Given the description of an element on the screen output the (x, y) to click on. 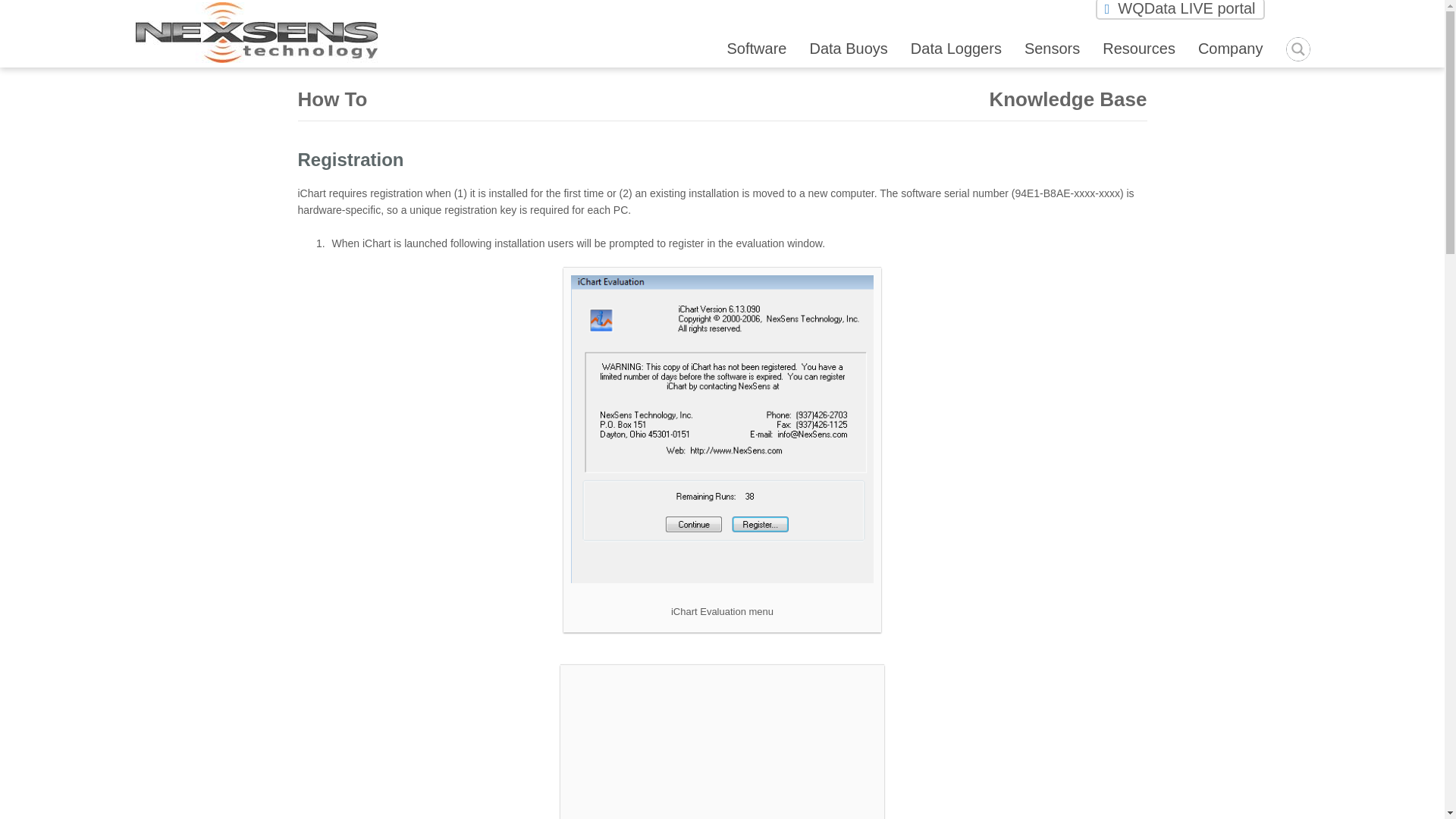
Data Loggers (956, 47)
 WQData LIVE portal (1180, 8)
Data Buoys (847, 47)
Sensors (1052, 47)
Software (756, 47)
Resources (1138, 47)
NexSens (256, 59)
Company (1230, 47)
